Given the description of an element on the screen output the (x, y) to click on. 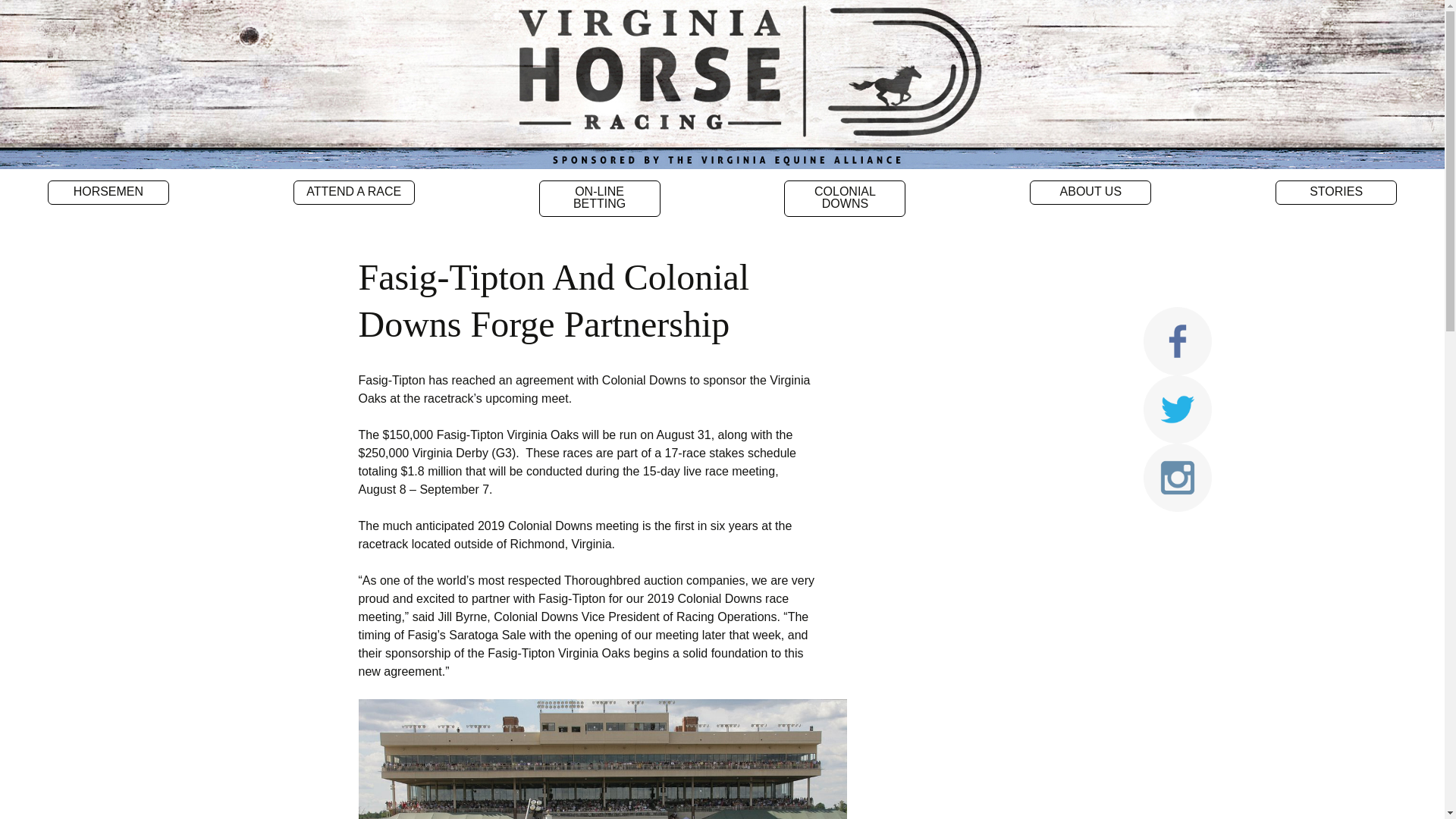
ABOUT US (1090, 192)
STEEPLECHASE (109, 216)
VIRGINIA GOLD CUP (354, 222)
HORSEMEN (108, 192)
2020 OWNERS AWARDS (844, 235)
ATTEND A RACE (354, 192)
STORIES (1335, 192)
COLONIAL DOWNS (844, 198)
ON-LINE BETTING (599, 198)
WAGERING 101 (600, 228)
